Given the description of an element on the screen output the (x, y) to click on. 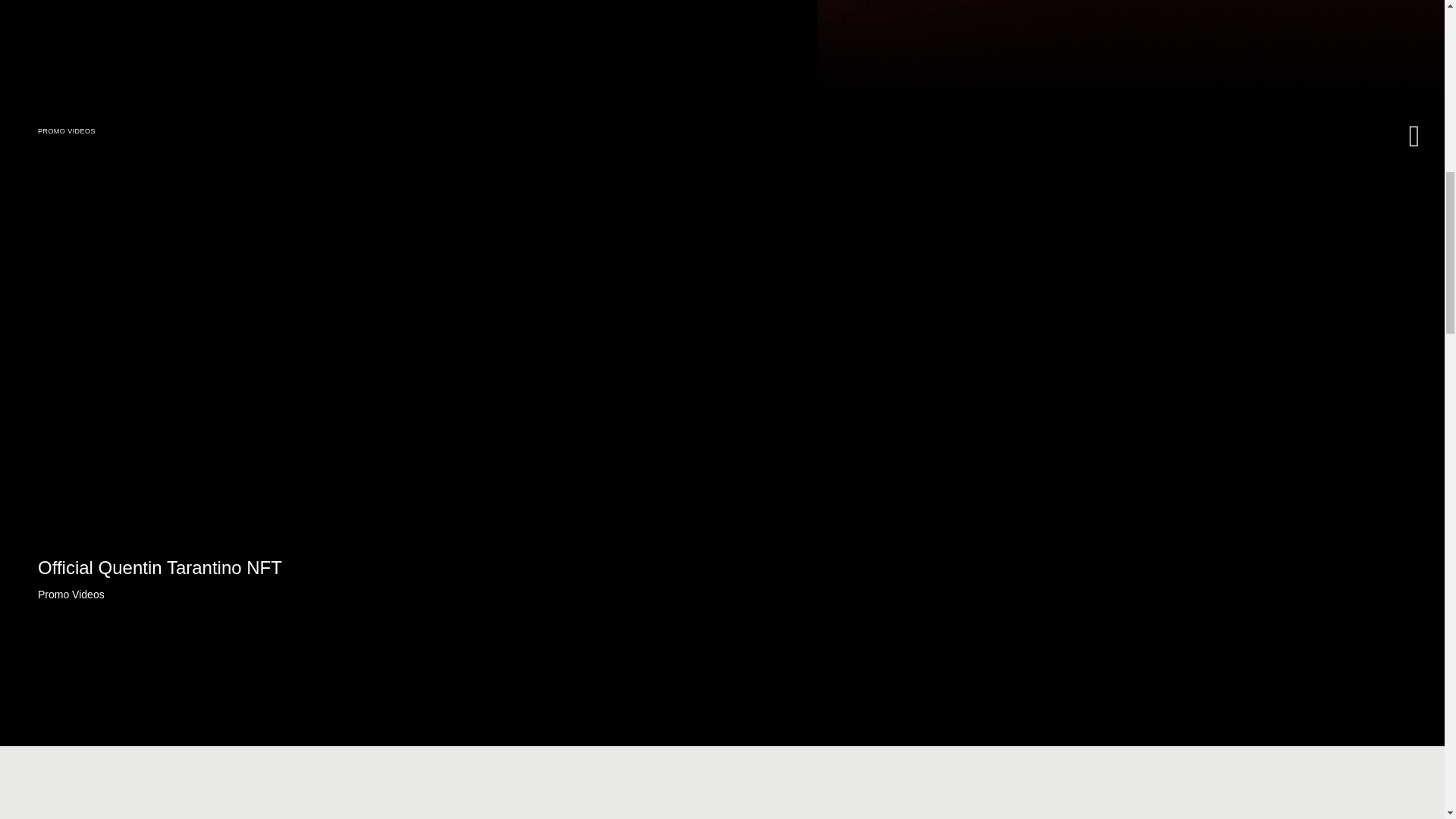
PROMO VIDEOS (66, 131)
Official Quentin Tarantino NFT (159, 567)
